Given the description of an element on the screen output the (x, y) to click on. 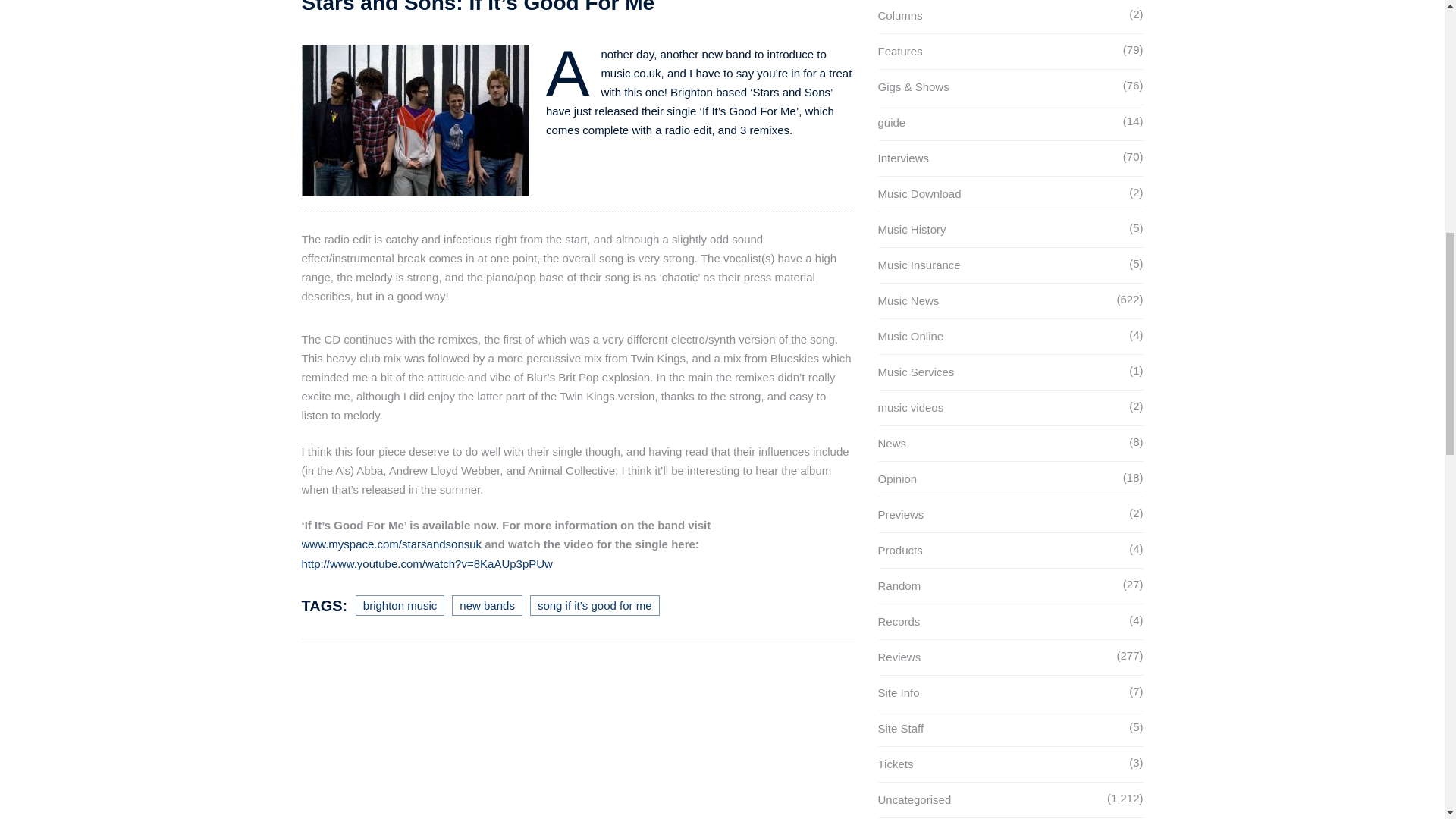
brighton music (400, 604)
music videos (910, 407)
Tickets (895, 763)
News (892, 442)
Site Staff (900, 727)
guide (891, 122)
new bands (486, 604)
Features (900, 51)
Music Download (918, 193)
Interviews (903, 157)
Site Info (898, 692)
Music History (911, 228)
Random (899, 585)
Music Online (910, 336)
Music Insurance (918, 264)
